Given the description of an element on the screen output the (x, y) to click on. 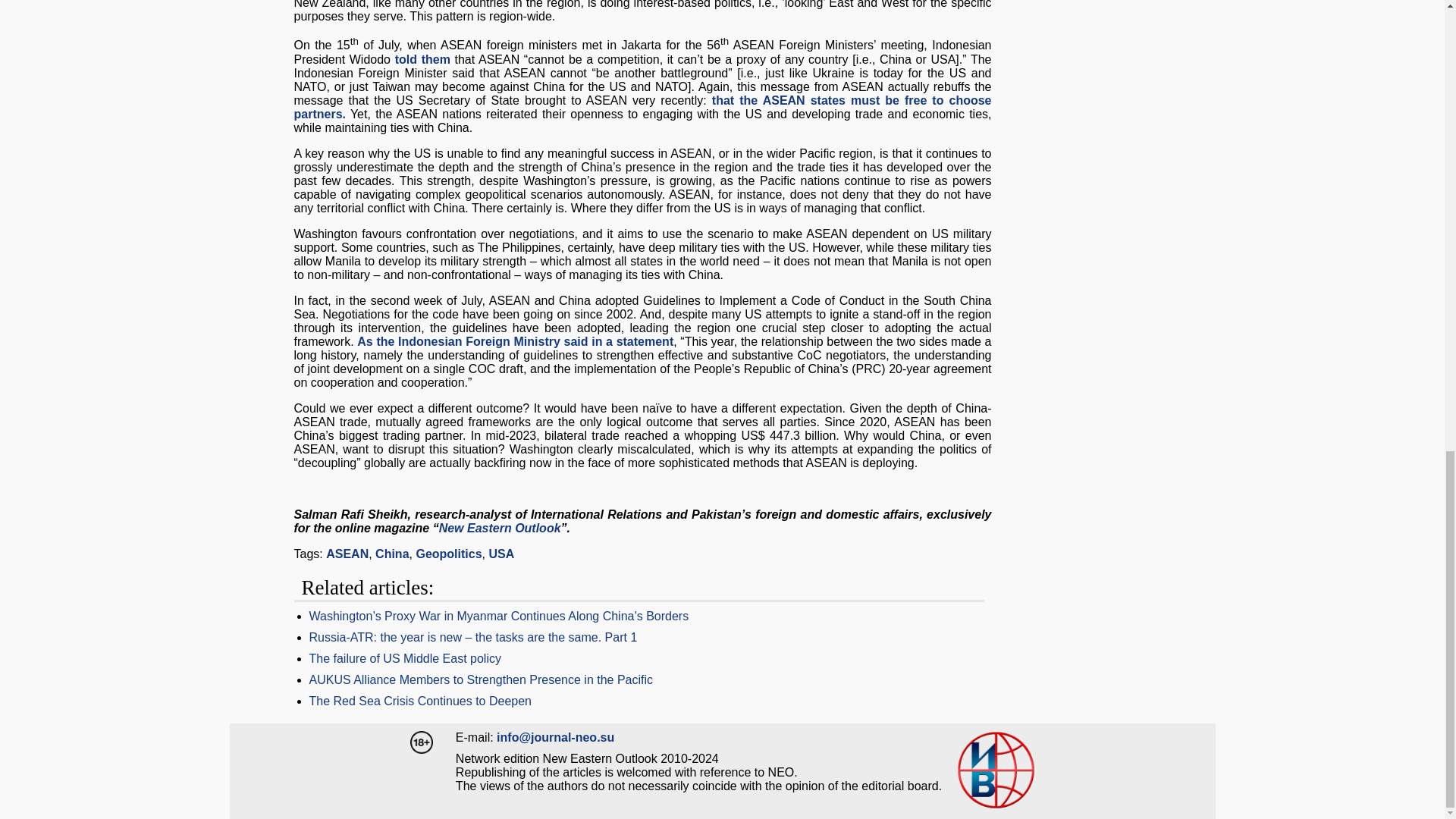
that the ASEAN states must be free to choose partners. (642, 107)
told them (421, 59)
Geopolitics (447, 553)
New Eastern Outlook (499, 527)
China (392, 553)
USA (500, 553)
As the Indonesian Foreign Ministry said in a statement (514, 341)
ASEAN (347, 553)
